Given the description of an element on the screen output the (x, y) to click on. 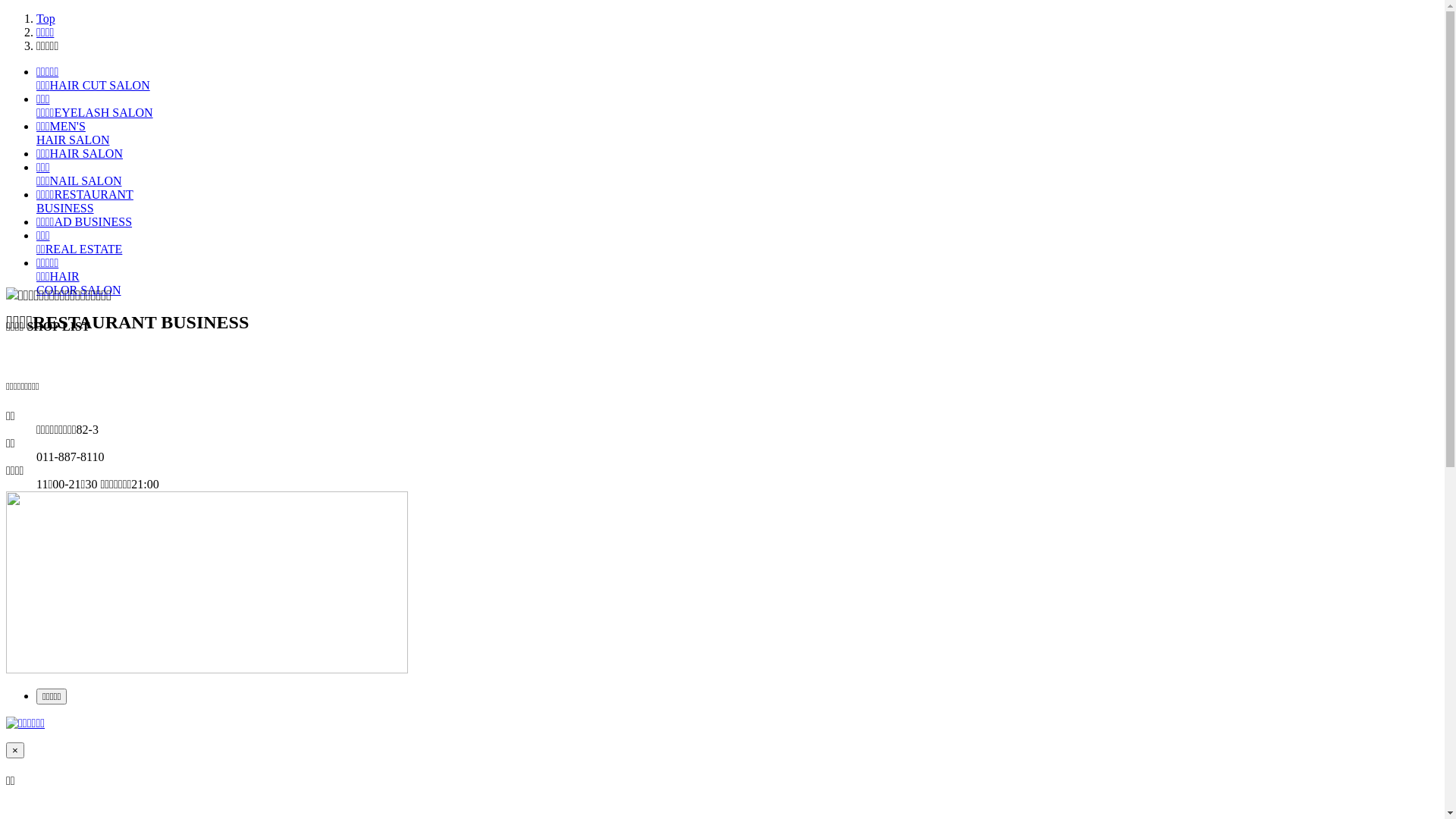
Top Element type: text (45, 18)
